Given the description of an element on the screen output the (x, y) to click on. 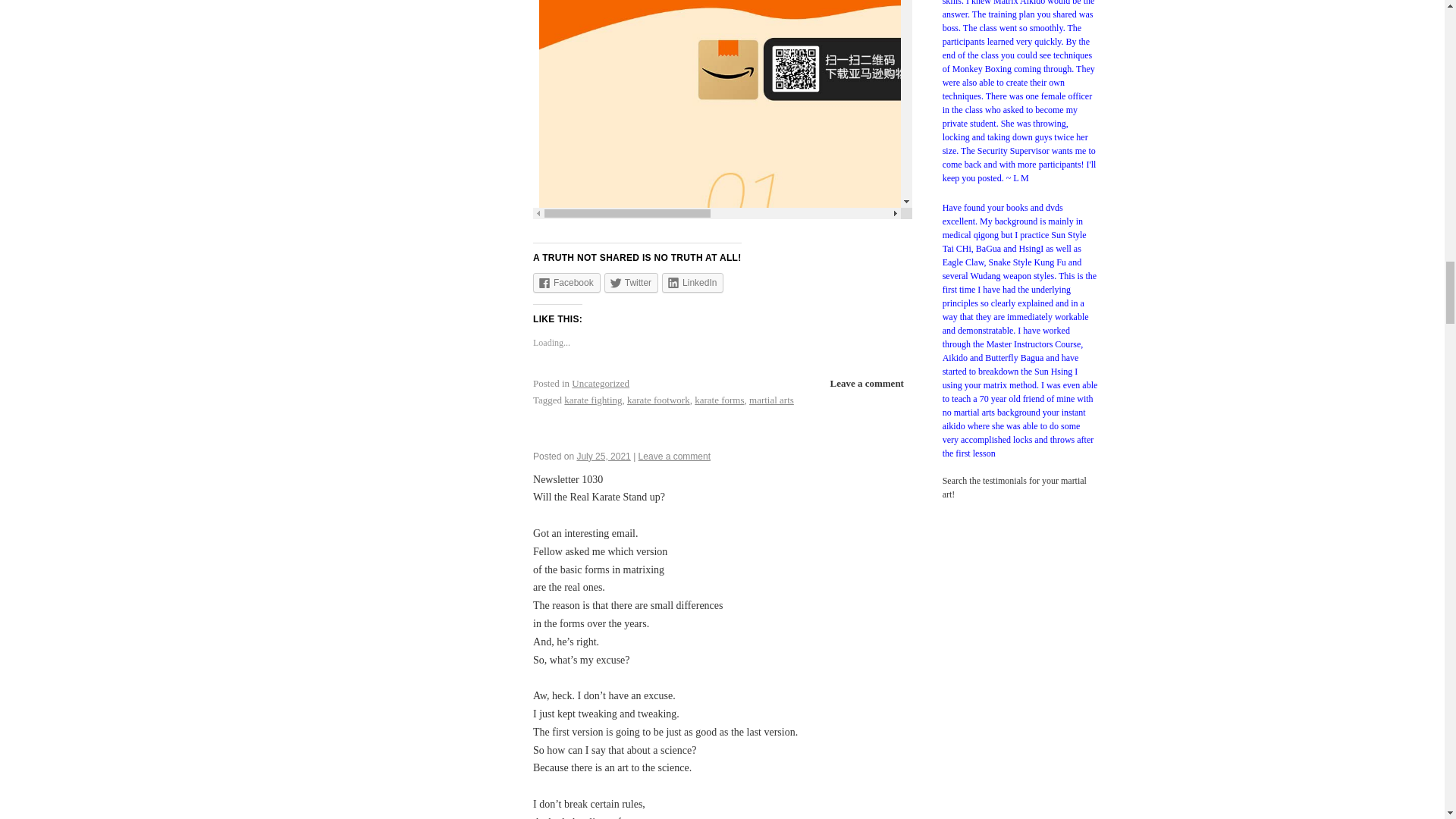
Uncategorized (600, 383)
July 25, 2021 (603, 456)
LinkedIn (692, 282)
Leave a comment (674, 456)
martial arts (771, 399)
Twitter (631, 282)
8:31 pm (603, 456)
karate footwork (658, 399)
karate fighting (592, 399)
Click to share on Twitter (631, 282)
